Given the description of an element on the screen output the (x, y) to click on. 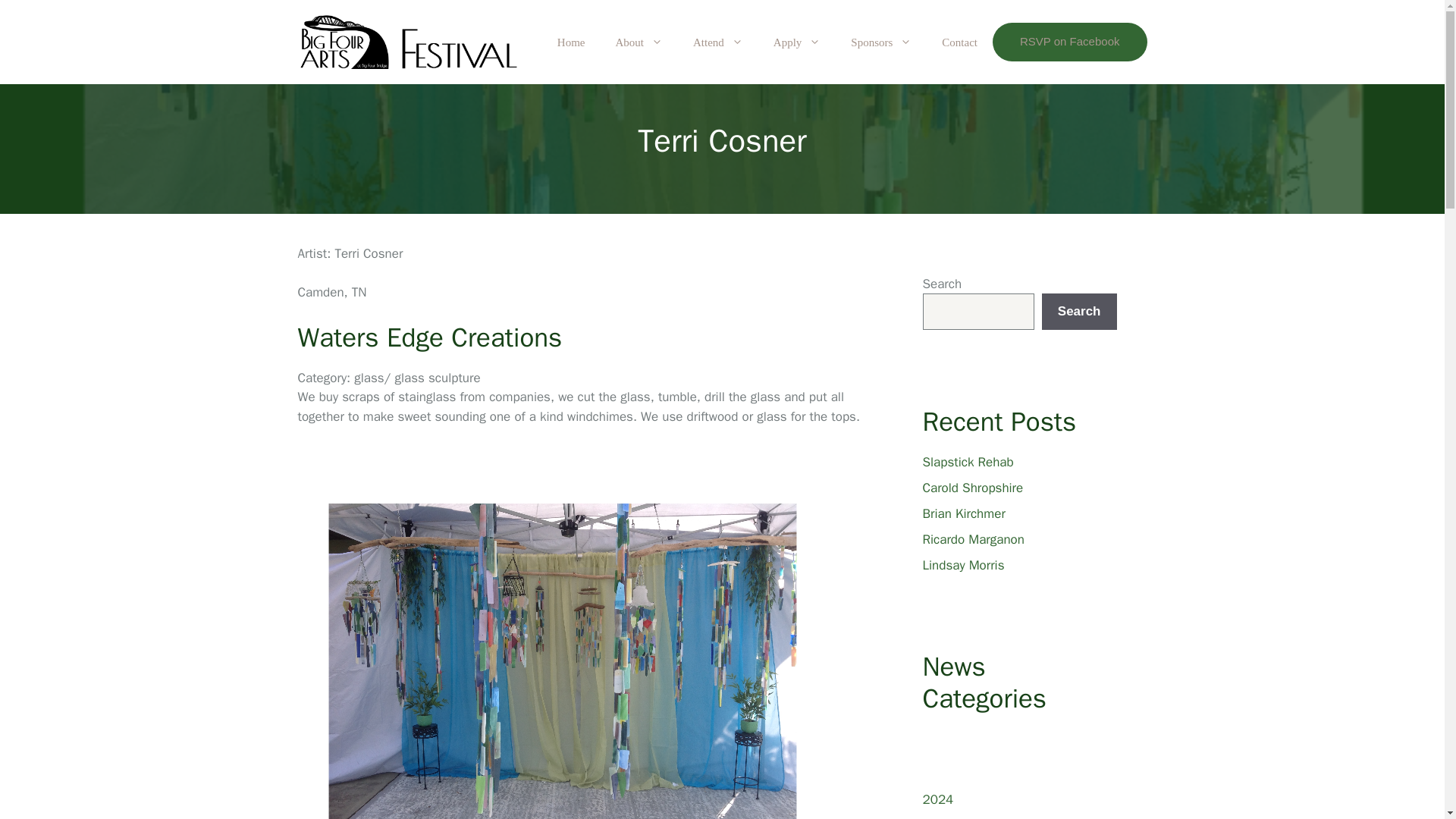
Sponsors (880, 42)
RSVP on Facebook (1069, 41)
About (638, 42)
Attend (718, 42)
Contact (959, 42)
Apply (796, 42)
Home (570, 42)
